Given the description of an element on the screen output the (x, y) to click on. 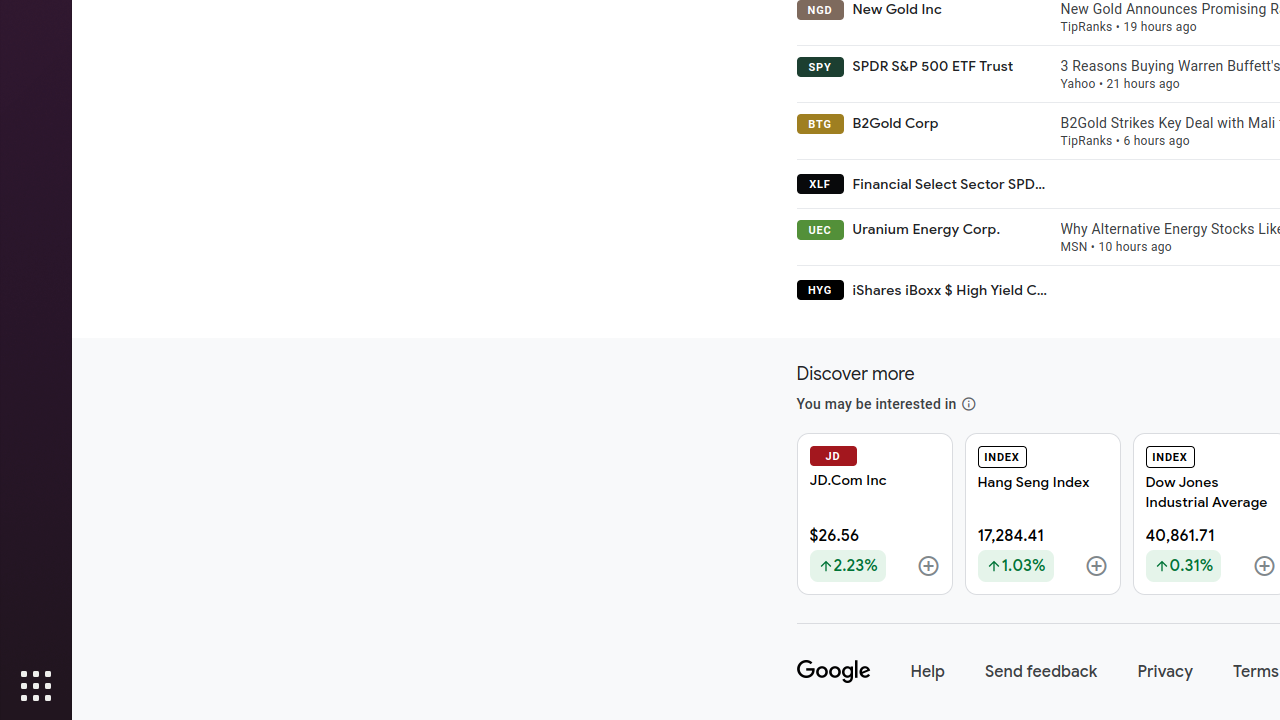
Terms Element type: link (1256, 672)
Show Applications Element type: toggle-button (36, 686)
INDEX Hang Seng Index 17,284.41 Up by 1.03% Element type: link (1042, 514)
Help Element type: link (927, 672)
Privacy Element type: link (1165, 672)
